Given the description of an element on the screen output the (x, y) to click on. 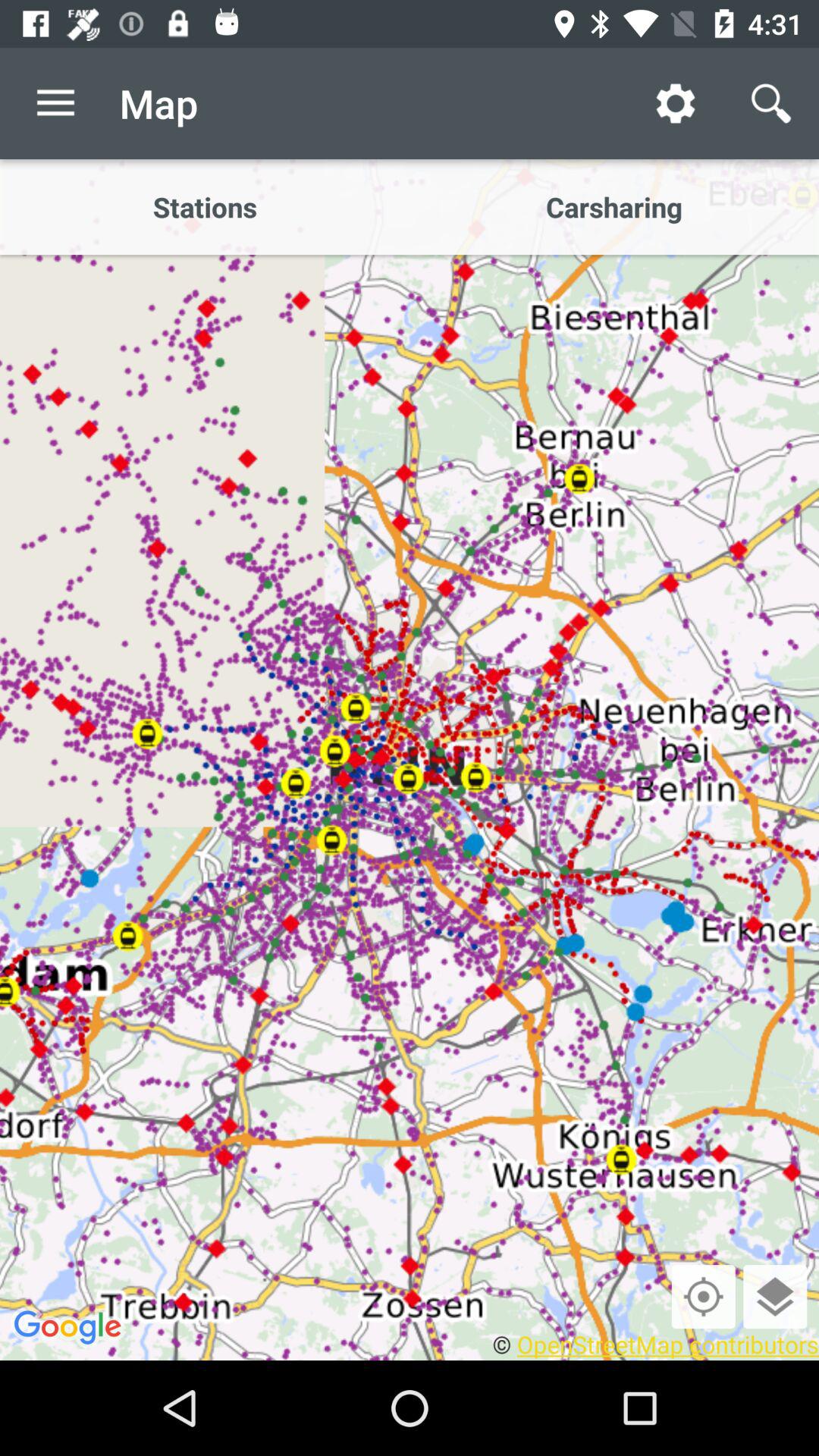
maps layers (775, 1296)
